Given the description of an element on the screen output the (x, y) to click on. 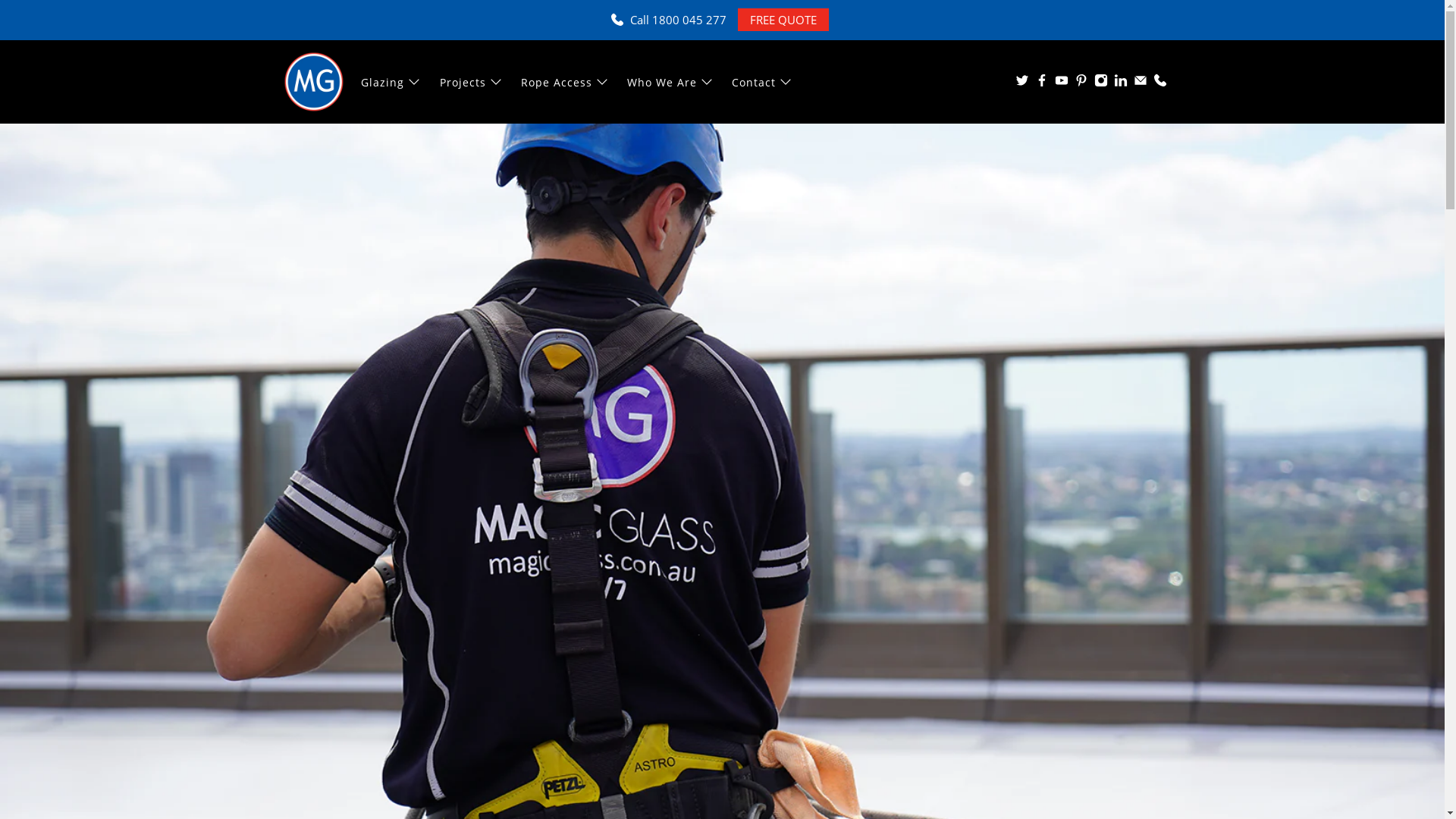
Magic Glass Element type: hover (313, 81)
Magic Glass on Pinterest Element type: hover (1080, 82)
Magic Glass on Twitter Element type: hover (1021, 82)
Contact Magic Glass Element type: hover (1159, 82)
Call 1800 045 277 Element type: text (677, 19)
Magic Glass on Facebook Element type: hover (1041, 82)
Rope Access Element type: text (565, 81)
Magic Glass on YouTube Element type: hover (1060, 82)
Glazing Element type: text (391, 81)
Magic Glass on Instagram Element type: hover (1100, 82)
FREE QUOTE Element type: text (782, 19)
Magic Glass on LinkedIn Element type: hover (1119, 82)
Contact Element type: text (762, 81)
Who We Are Element type: text (670, 81)
Projects Element type: text (470, 81)
Email Magic Glass Element type: hover (1139, 82)
